Given the description of an element on the screen output the (x, y) to click on. 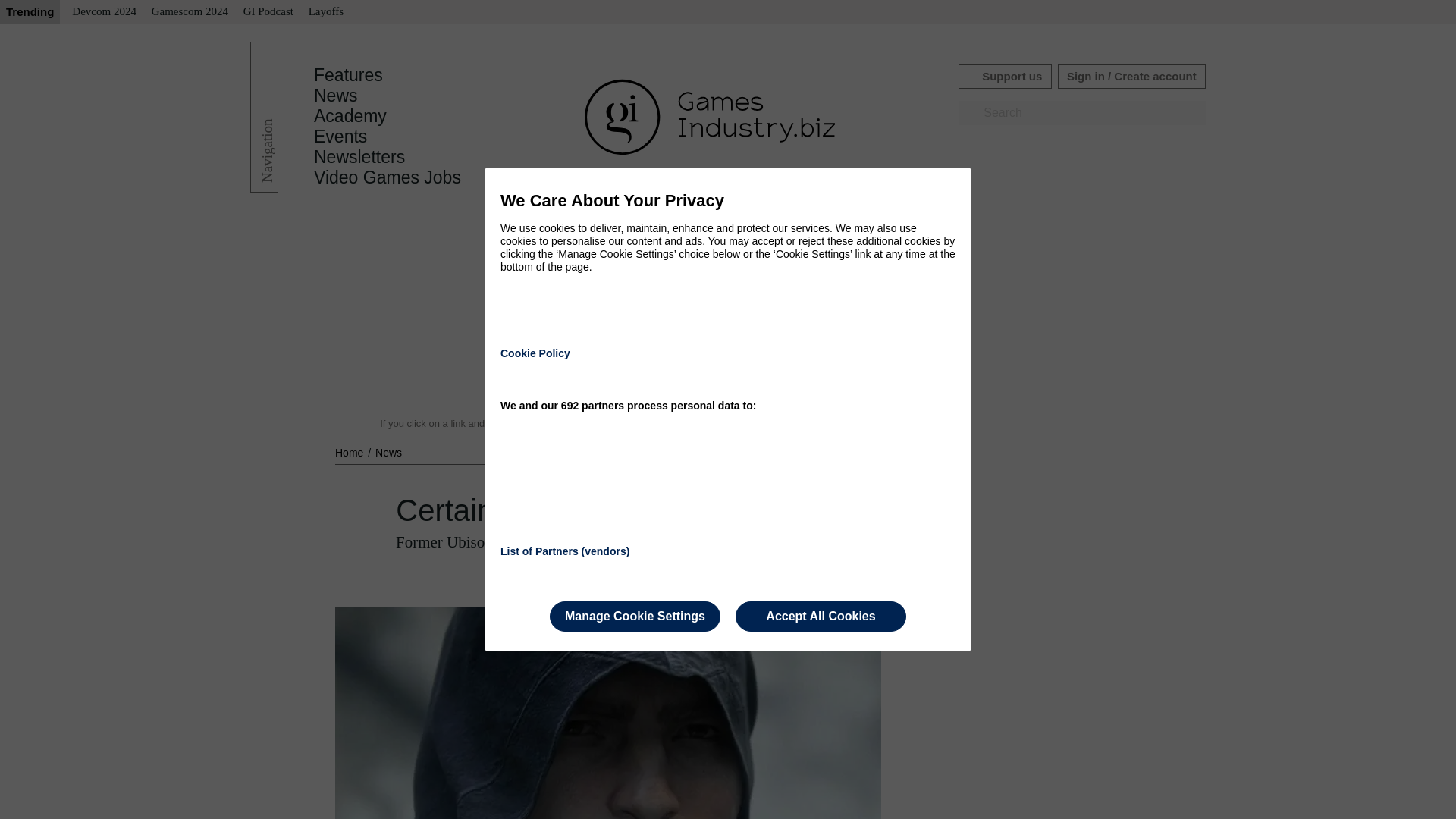
Gamescom 2024 (189, 11)
Read our editorial policy (781, 423)
Features (348, 75)
Devcom 2024 (103, 11)
Home (350, 452)
Features (348, 75)
Newsletters (359, 157)
GI Podcast (268, 11)
Academy (350, 116)
News (388, 452)
